Given the description of an element on the screen output the (x, y) to click on. 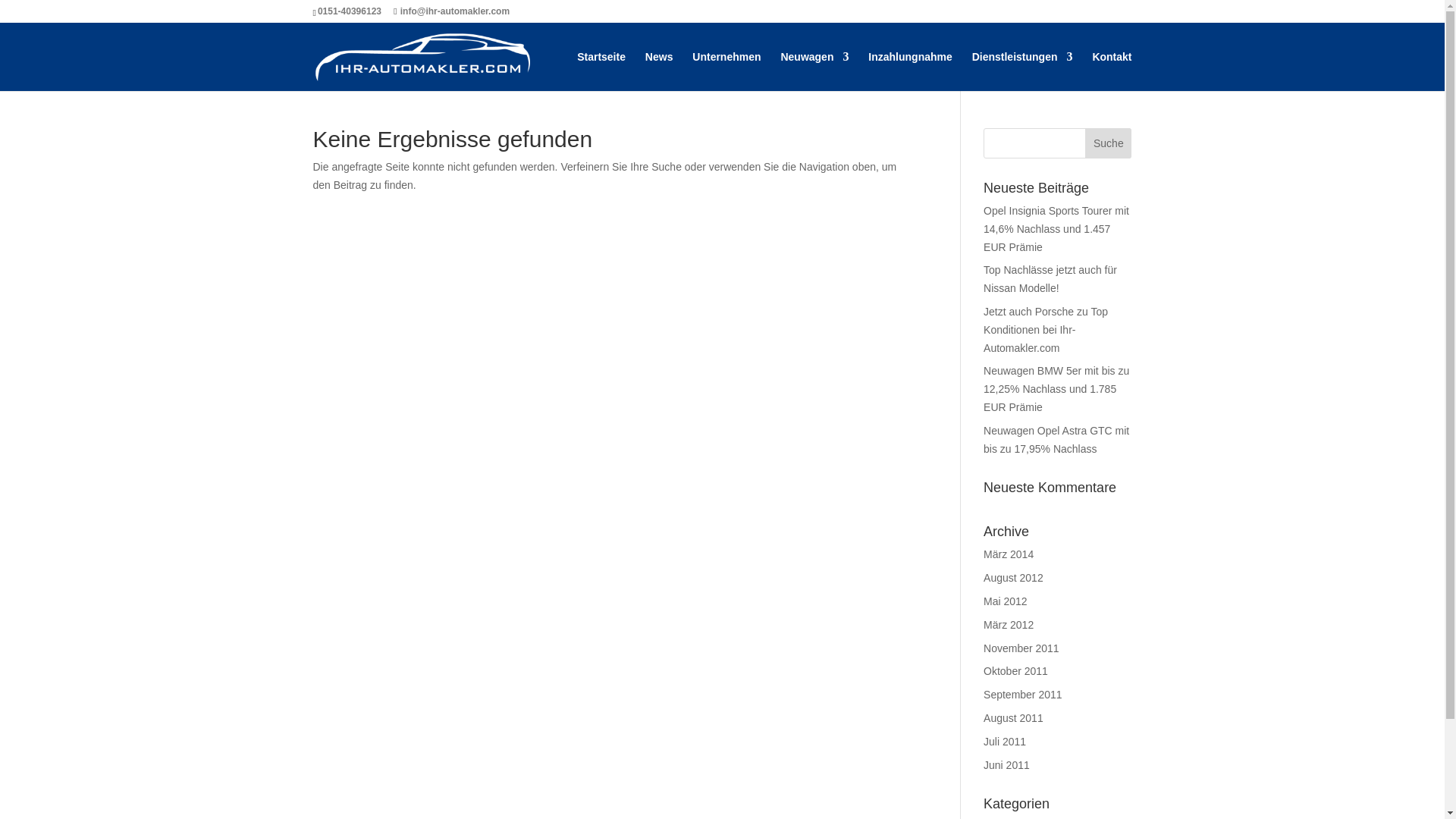
August 2011 (1013, 717)
Juli 2011 (1005, 741)
Jetzt auch Porsche zu Top Konditionen bei Ihr-Automakler.com (1046, 329)
Mai 2012 (1005, 601)
November 2011 (1021, 648)
Startseite (601, 70)
Suche (1107, 142)
Suche (1107, 142)
Oktober 2011 (1016, 671)
Inzahlungnahme (909, 70)
Dienstleistungen (1022, 70)
Juni 2011 (1006, 765)
Neuwagen (814, 70)
August 2012 (1013, 577)
Kontakt (1111, 70)
